Given the description of an element on the screen output the (x, y) to click on. 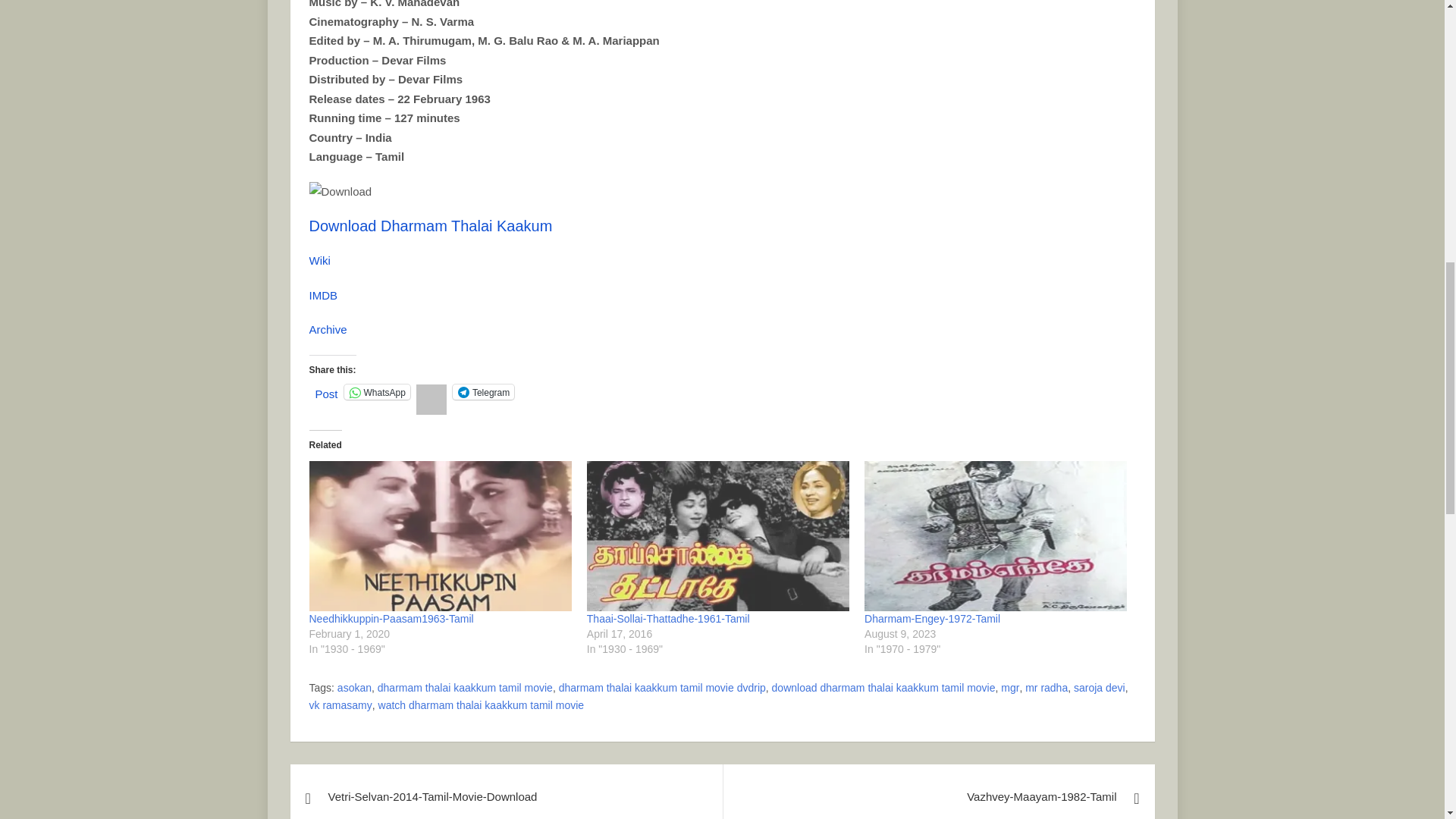
Needhikkuppin-Paasam1963-Tamil (440, 535)
Thaai-Sollai-Thattadhe-1961-Tamil (667, 618)
Wiki (319, 259)
Thaai-Sollai-Thattadhe-1961-Tamil (717, 535)
Dharmam-Thalai-Kaakkum-1963-Tamil (340, 191)
Thaai-Sollai-Thattadhe-1961-Tamil (667, 618)
Click to share on Telegram (482, 391)
Telegram (482, 391)
Needhikkuppin-Paasam1963-Tamil (391, 618)
Archive (327, 328)
IMDB (322, 295)
Click to share on WhatsApp (376, 391)
WhatsApp (376, 391)
Needhikkuppin-Paasam1963-Tamil (391, 618)
Download Dharmam Thalai Kaakum (430, 225)
